Given the description of an element on the screen output the (x, y) to click on. 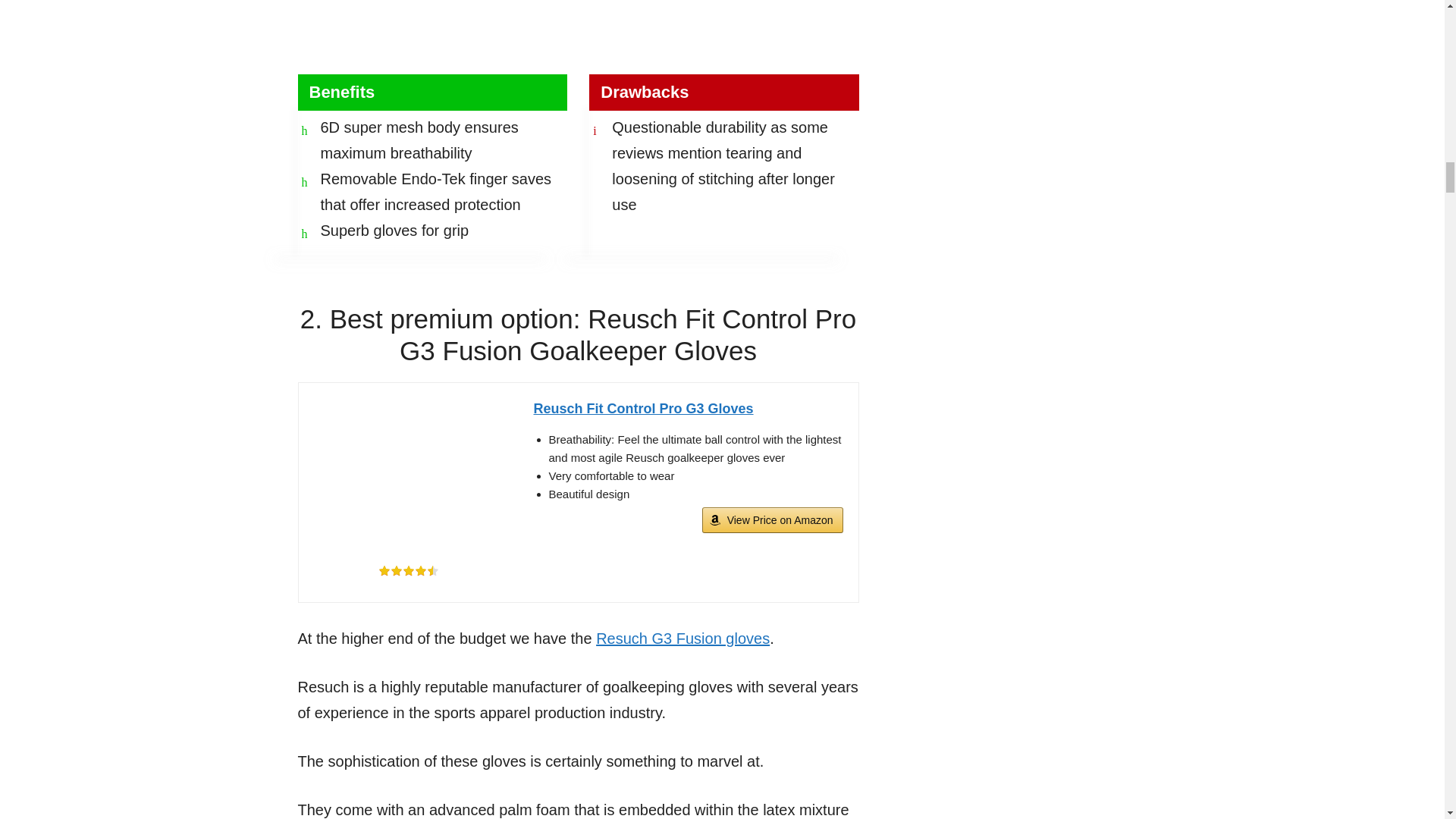
Reviews on Amazon (407, 571)
View Price on Amazon (772, 519)
Resuch G3 Fusion gloves (682, 638)
Reusch Fit Control Pro G3 Gloves (408, 473)
Reusch Fit Control Pro G3 Gloves (688, 409)
